Given the description of an element on the screen output the (x, y) to click on. 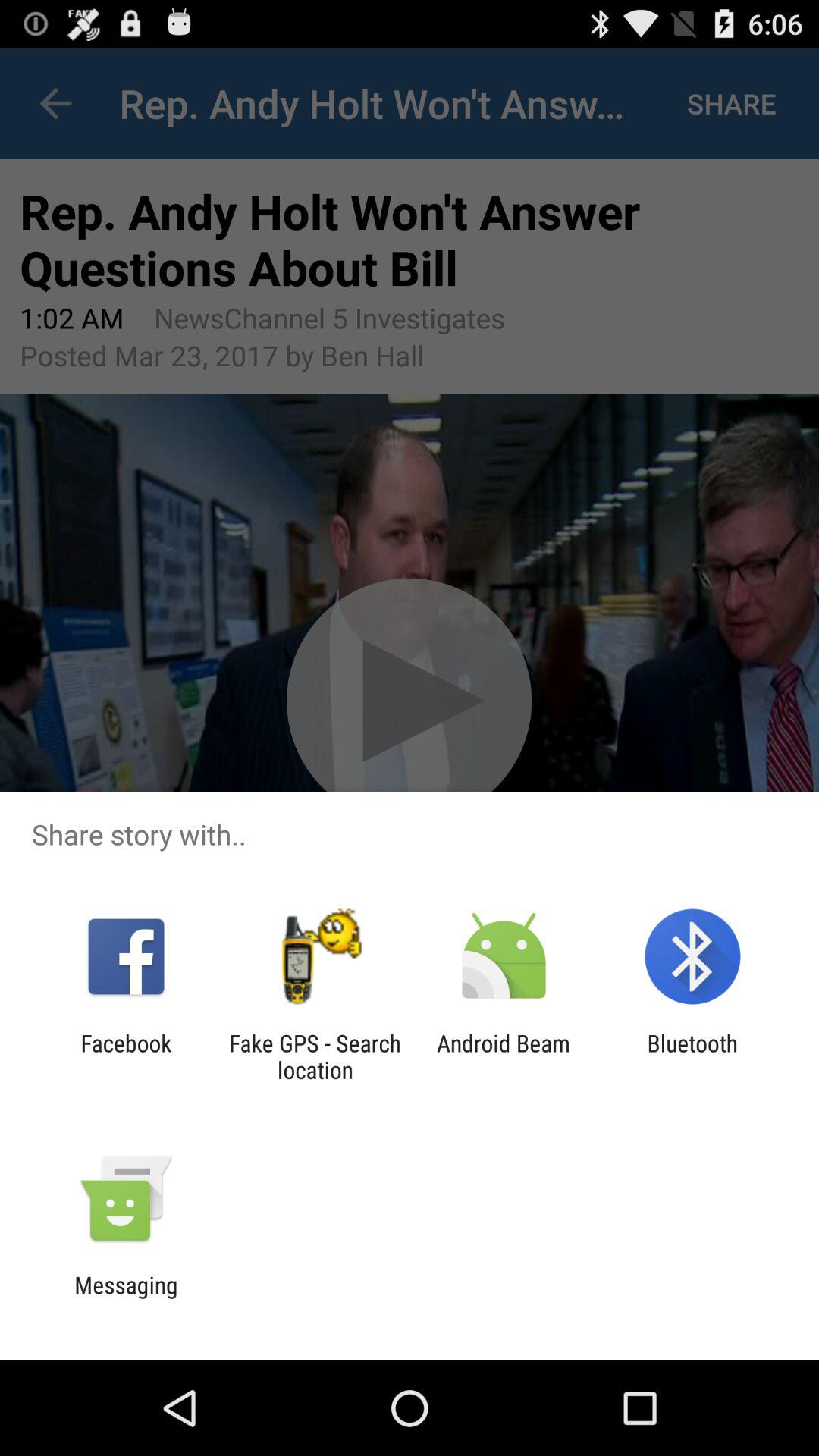
turn on the icon to the right of the fake gps search (503, 1056)
